Given the description of an element on the screen output the (x, y) to click on. 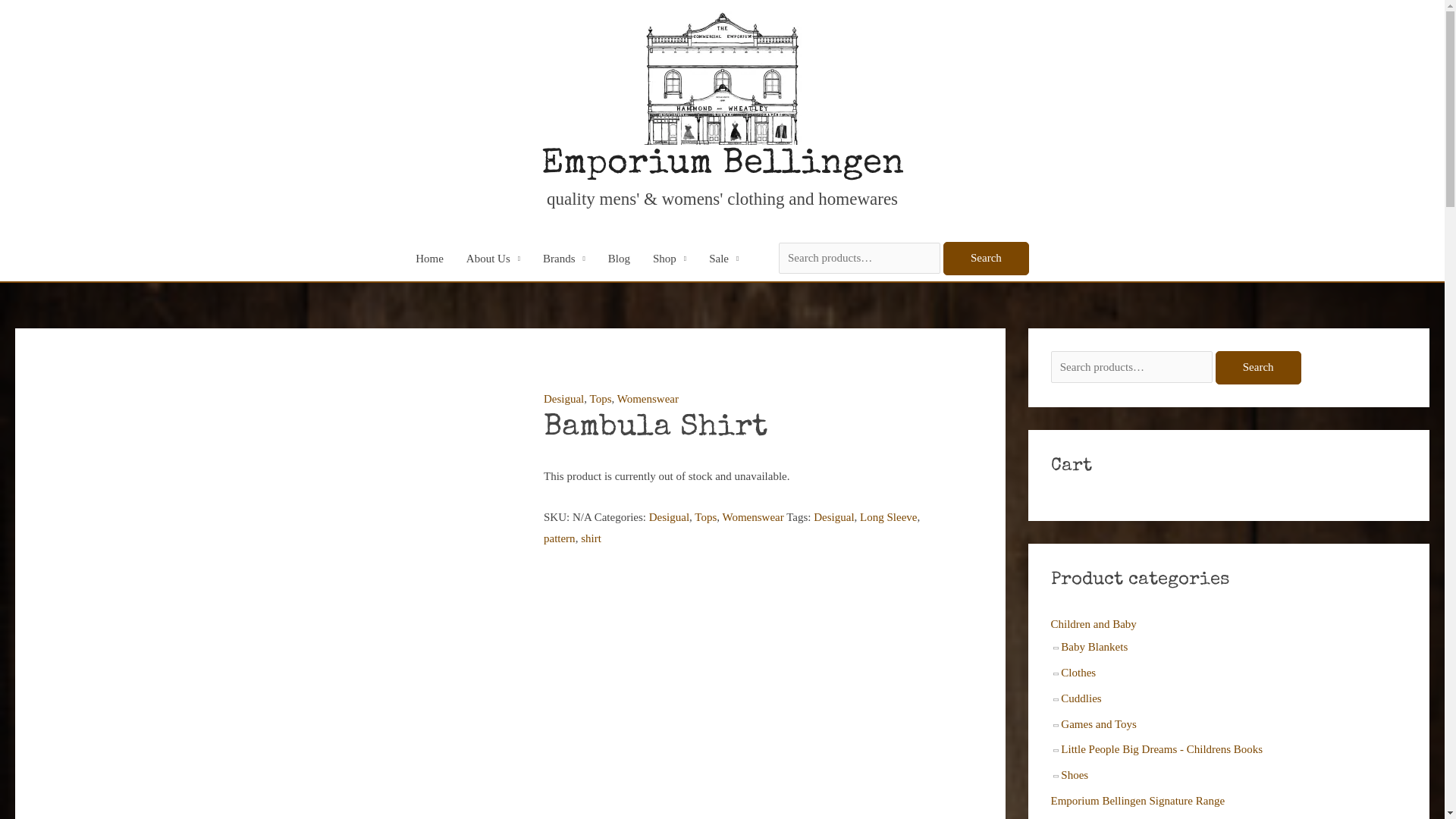
About Us Element type: text (493, 258)
shirt Element type: text (590, 538)
Cuddlies Element type: text (1080, 698)
Emporium Bellingen Signature Range Element type: text (1138, 800)
Womenswear Element type: text (647, 398)
Blog Element type: text (618, 258)
Home Element type: text (429, 258)
Baby Blankets Element type: text (1093, 646)
Long Sleeve Element type: text (887, 517)
Clothes Element type: text (1077, 672)
Search Element type: text (986, 258)
pattern Element type: text (559, 538)
Little People Big Dreams - Childrens Books Element type: text (1161, 749)
Shop Element type: text (669, 258)
Tops Element type: text (705, 517)
Brands Element type: text (563, 258)
Tops Element type: text (600, 398)
Games and Toys Element type: text (1098, 724)
Search Element type: text (1258, 367)
Sale Element type: text (723, 258)
Womenswear Element type: text (752, 517)
Emporium Bellingen Element type: text (722, 164)
Desigual Element type: text (833, 517)
Shoes Element type: text (1074, 774)
Desigual Element type: text (563, 398)
Desigual Element type: text (669, 517)
Children and Baby Element type: text (1093, 624)
